Given the description of an element on the screen output the (x, y) to click on. 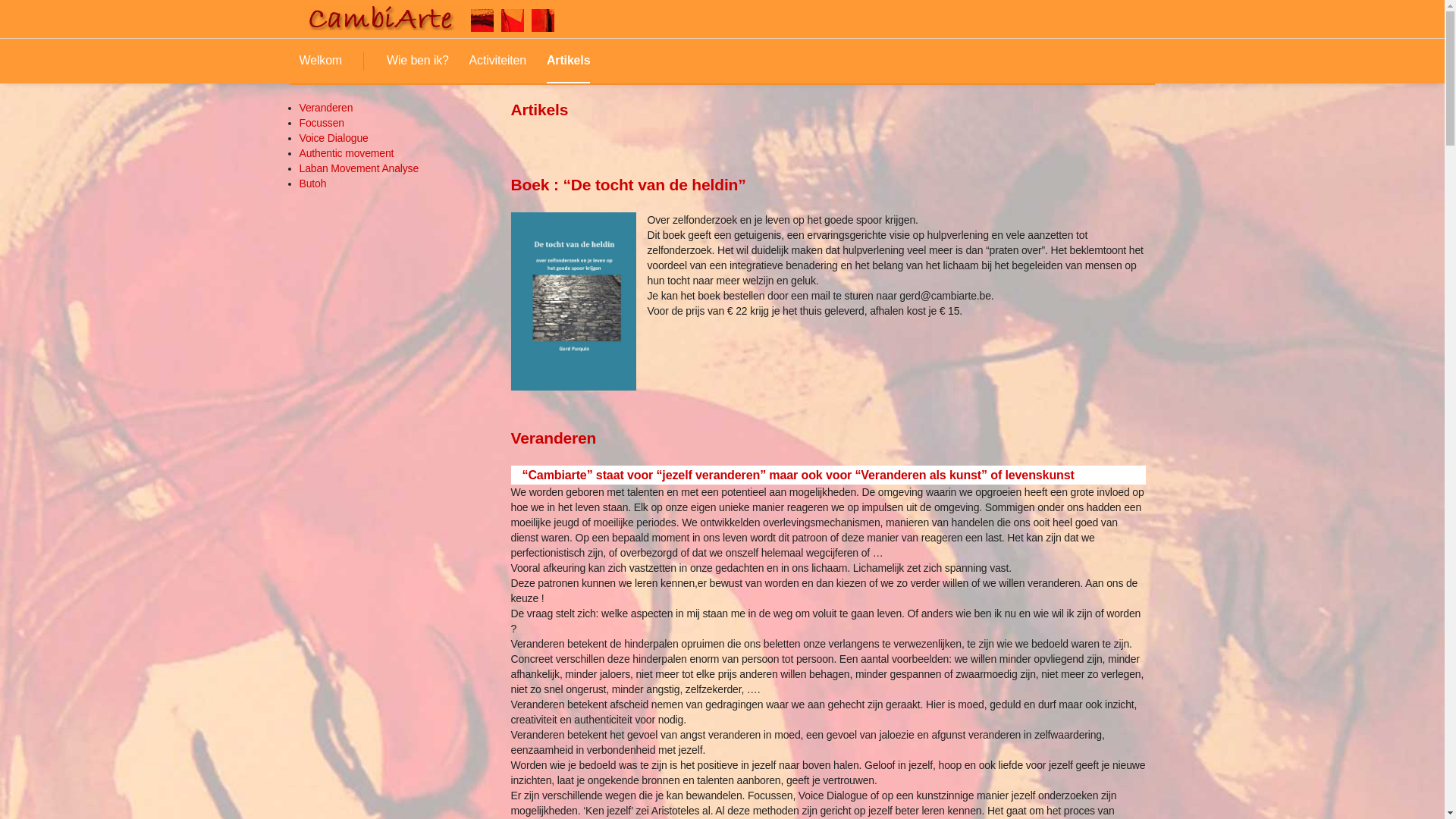
Wie ben ik? Element type: text (417, 60)
Laban Movement Analyse Element type: text (358, 168)
Artikels Element type: text (567, 60)
Butoh Element type: text (312, 183)
Veranderen Element type: text (325, 107)
Welkom Element type: text (320, 60)
Voice Dialogue Element type: text (332, 137)
Activiteiten Element type: text (497, 60)
Focussen Element type: text (320, 122)
Authentic movement Element type: text (345, 153)
